Given the description of an element on the screen output the (x, y) to click on. 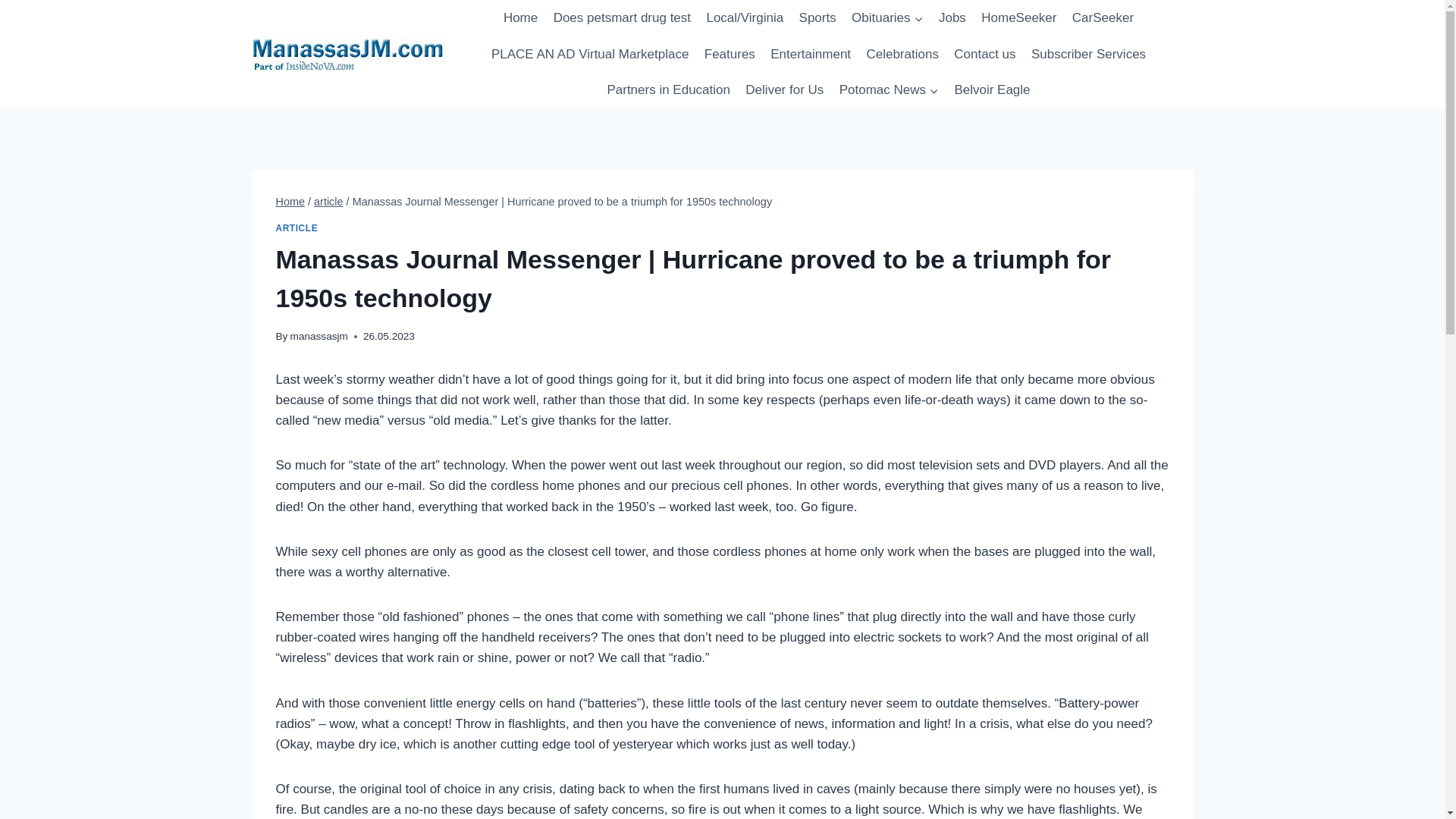
Home (521, 18)
Obituaries (887, 18)
article (328, 201)
Potomac News (888, 90)
CarSeeker (1102, 18)
Partners in Education (668, 90)
HomeSeeker (1019, 18)
manassasjm (318, 336)
Belvoir Eagle (992, 90)
Jobs (952, 18)
Sports (817, 18)
Does petsmart drug test (621, 18)
Features (729, 54)
PLACE AN AD Virtual Marketplace (590, 54)
Entertainment (810, 54)
